Given the description of an element on the screen output the (x, y) to click on. 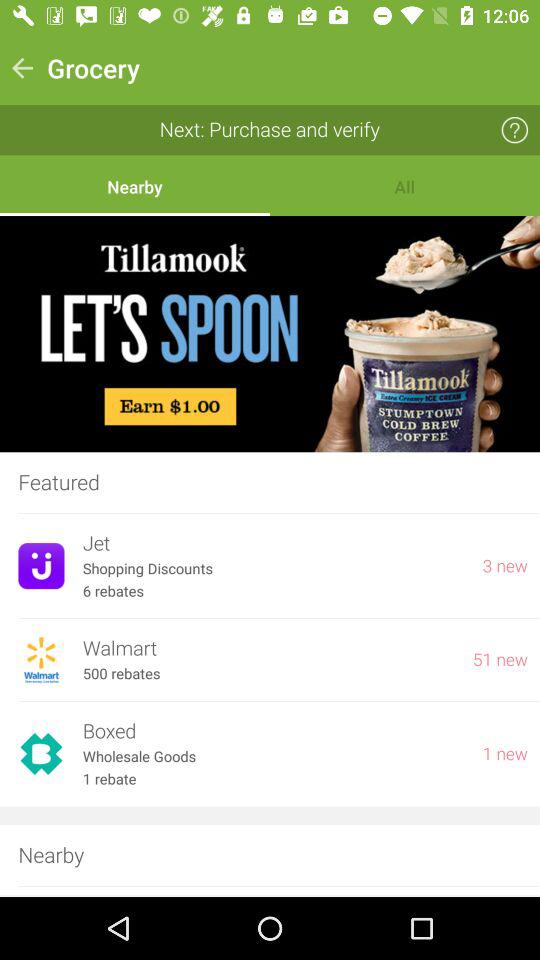
click 1 new icon (505, 753)
